Given the description of an element on the screen output the (x, y) to click on. 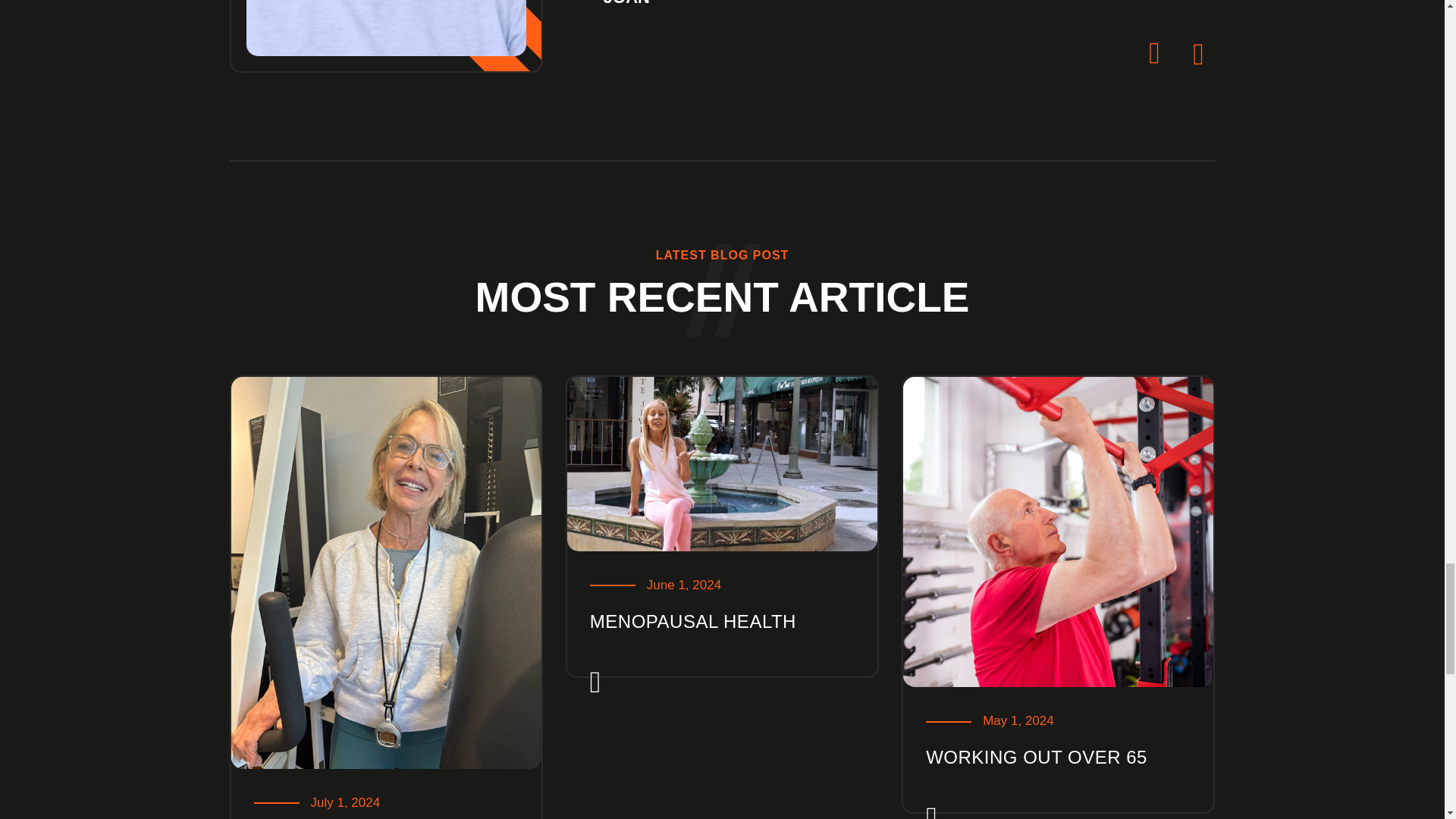
17 (385, 28)
